Given the description of an element on the screen output the (x, y) to click on. 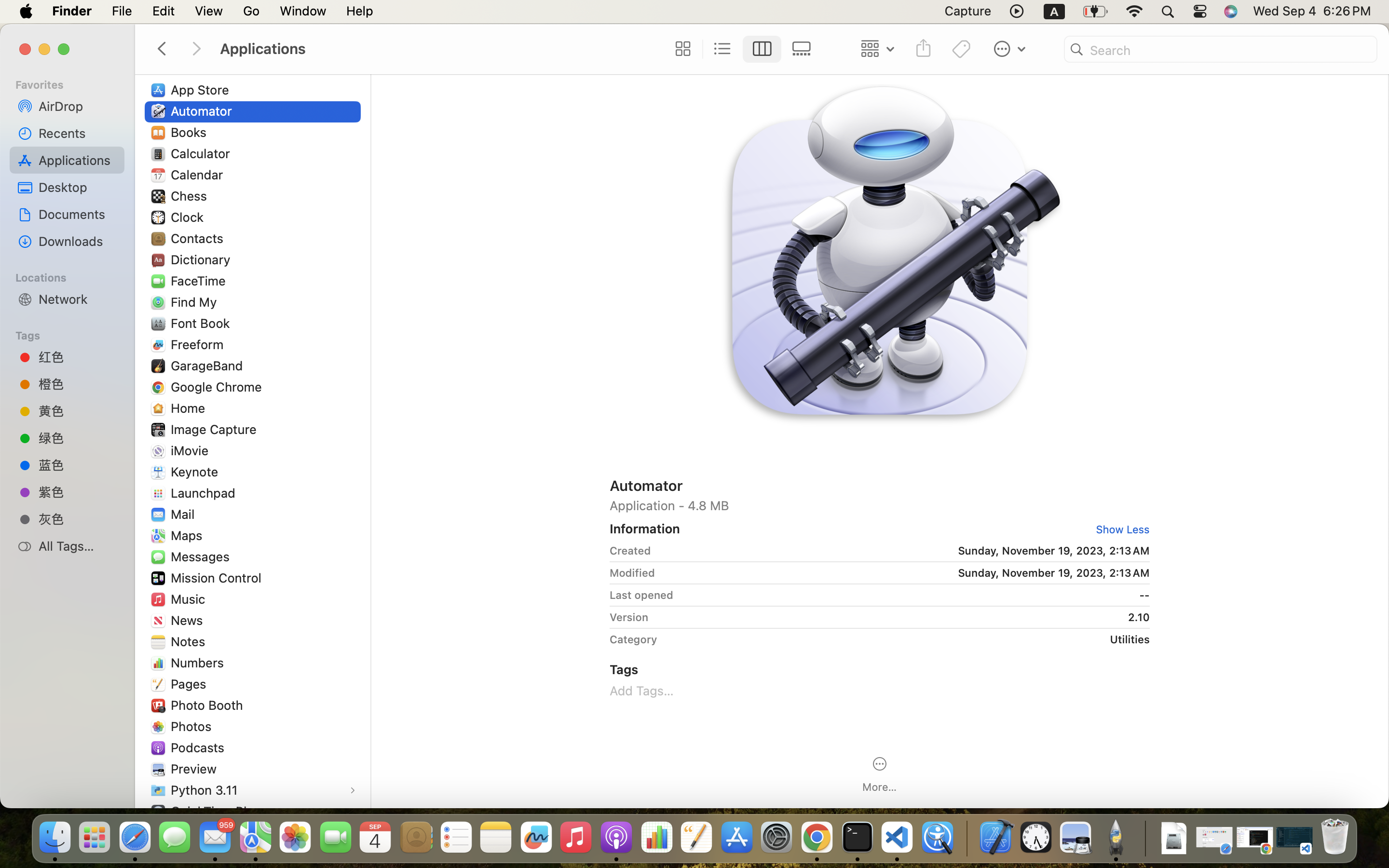
Preview Element type: AXTextField (195, 768)
Contacts Element type: AXTextField (198, 237)
0.4285714328289032 Element type: AXDockItem (965, 837)
Messages Element type: AXTextField (201, 556)
0.0 Element type: AXScrollBar (427, 473)
